Given the description of an element on the screen output the (x, y) to click on. 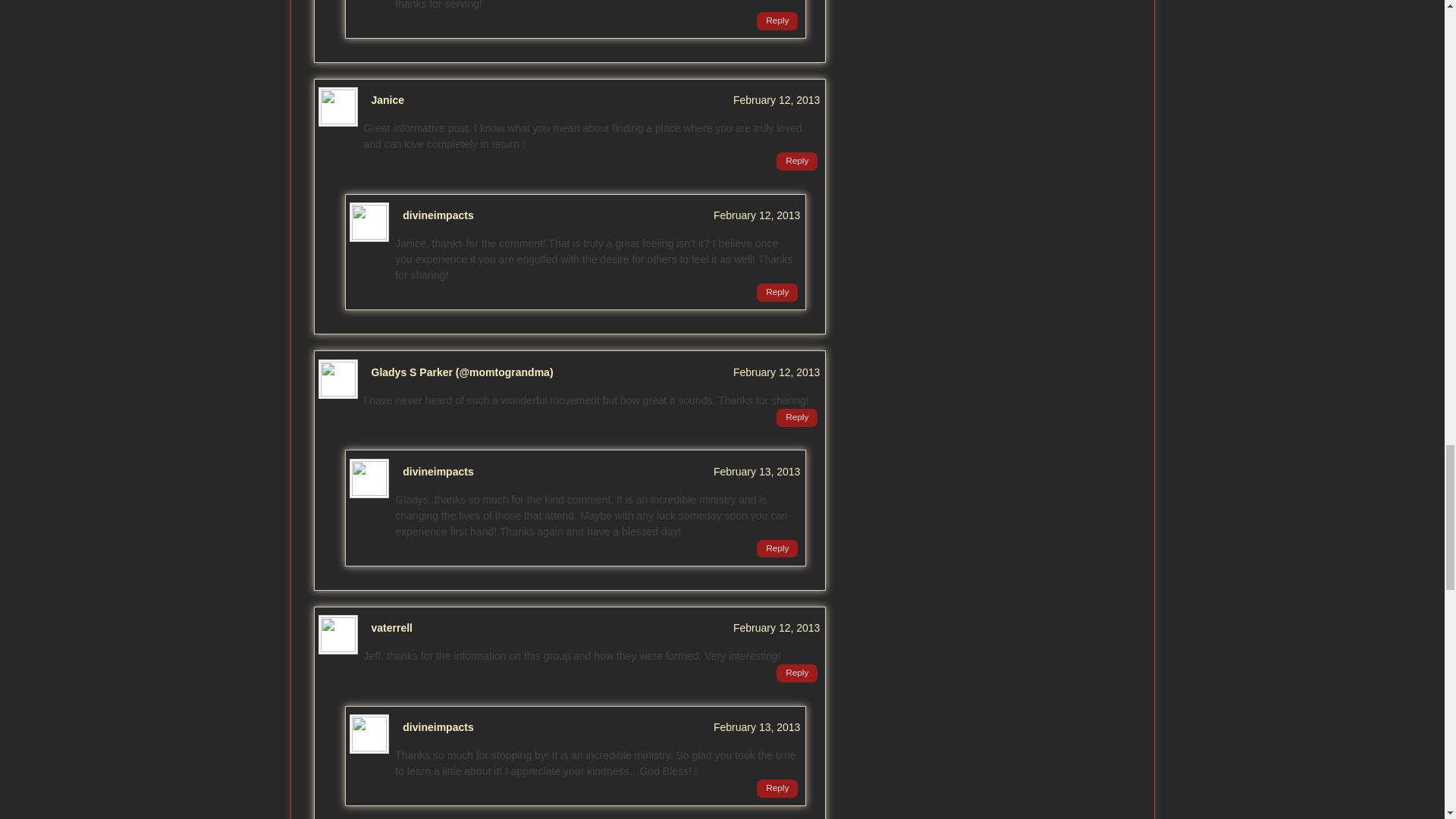
February 13, 2013 (756, 471)
Reply (777, 21)
Janice (387, 100)
divineimpacts (438, 215)
February 12, 2013 (776, 372)
Reply (777, 548)
Reply (796, 417)
divineimpacts (438, 471)
February 12, 2013 (776, 100)
Reply (796, 161)
